Given the description of an element on the screen output the (x, y) to click on. 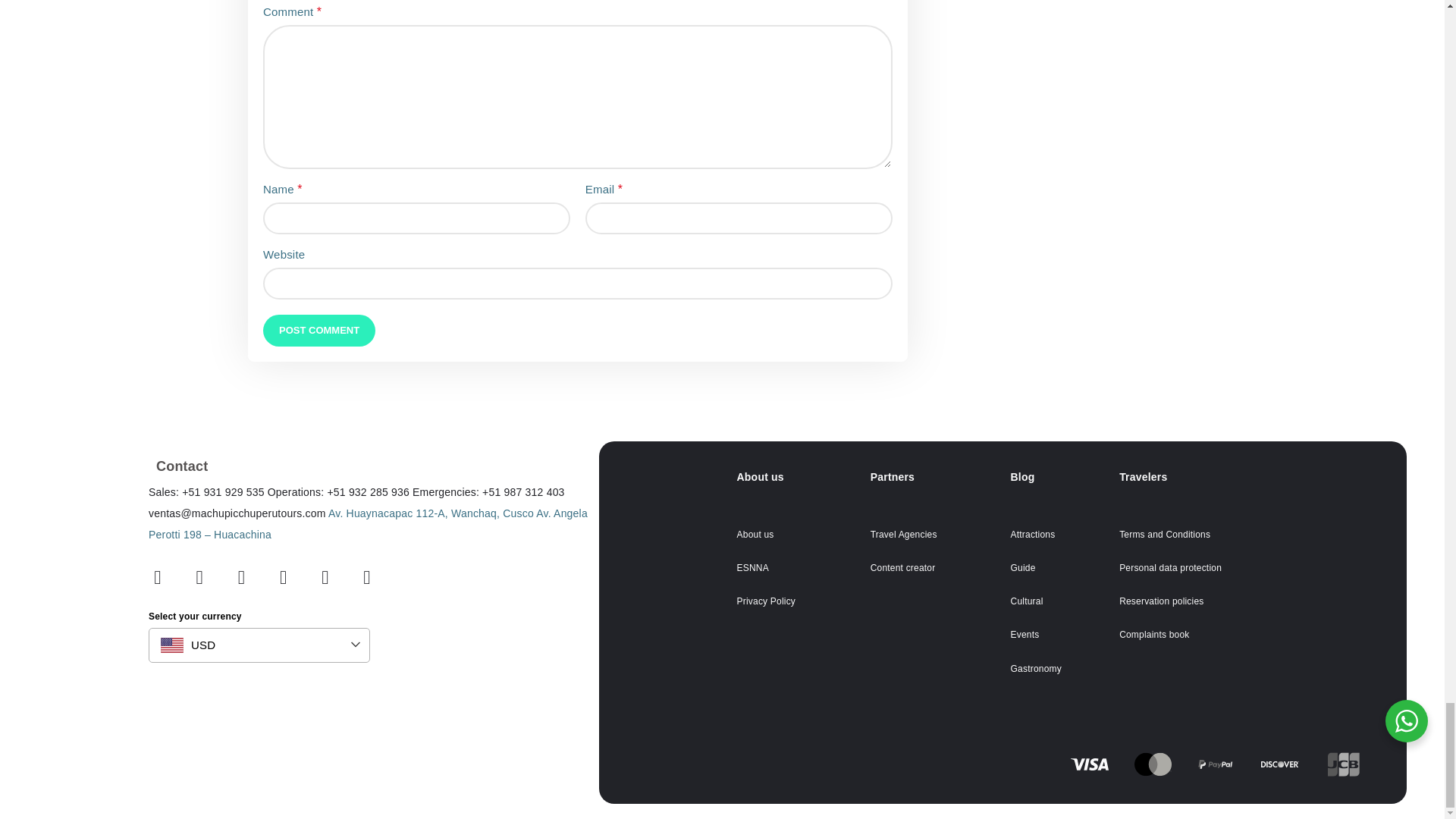
Post Comment (319, 330)
